Given the description of an element on the screen output the (x, y) to click on. 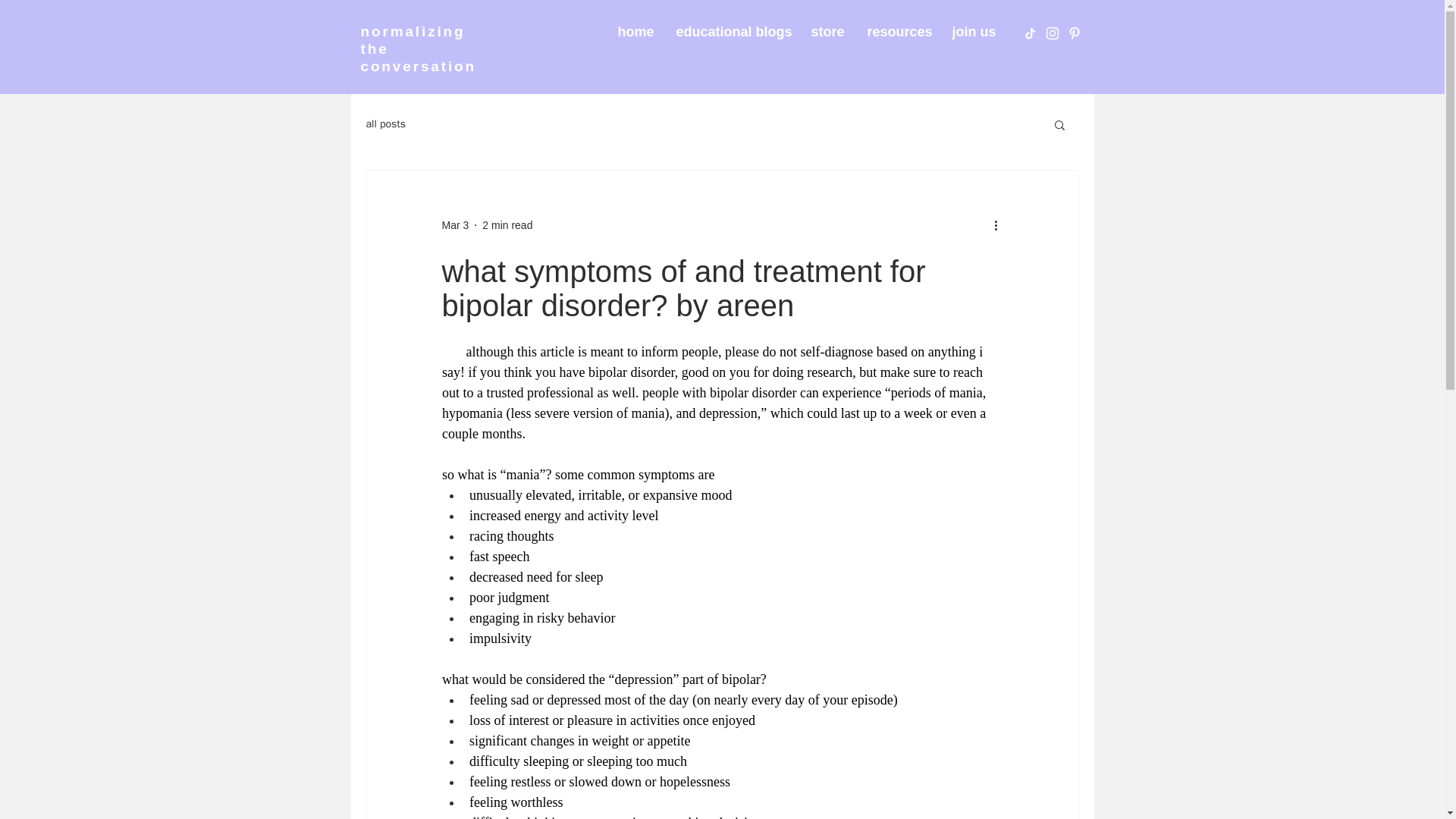
2 min read (506, 224)
all posts (385, 124)
resources (898, 31)
join us (971, 31)
educational blogs (730, 31)
Mar 3 (454, 224)
store (827, 31)
normalizing the conversation (418, 48)
home (636, 31)
